Given the description of an element on the screen output the (x, y) to click on. 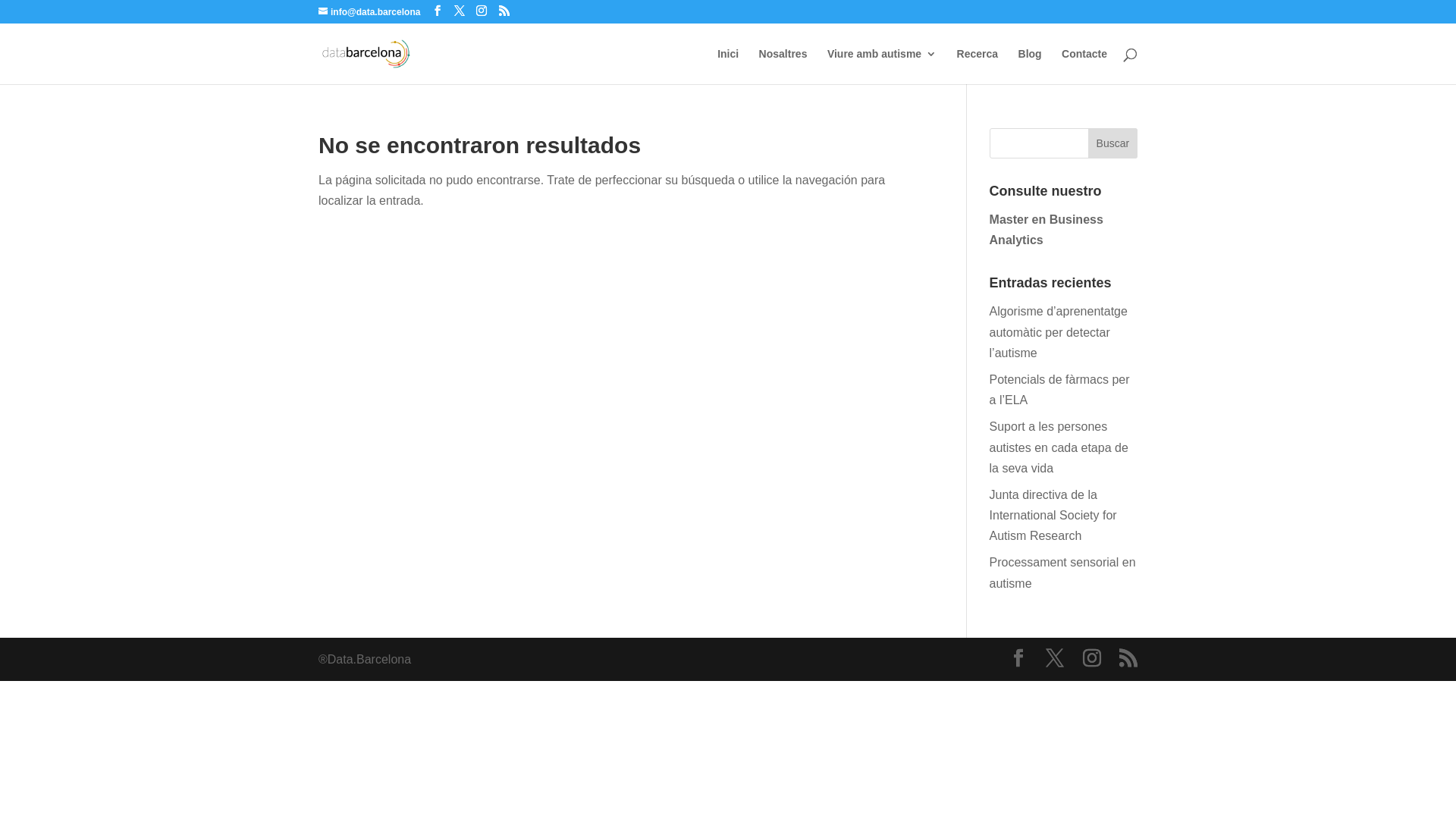
Blog Element type: text (1029, 66)
Contacte Element type: text (1084, 66)
Buscar Element type: text (1112, 143)
Master en Business Analytics Element type: text (1046, 229)
Suport a les persones autistes en cada etapa de la seva vida Element type: text (1058, 446)
Recerca Element type: text (977, 66)
Viure amb autisme Element type: text (881, 66)
Processament sensorial en autisme Element type: text (1062, 572)
Inici Element type: text (727, 66)
Nosaltres Element type: text (783, 66)
info@data.barcelona Element type: text (369, 11)
